Given the description of an element on the screen output the (x, y) to click on. 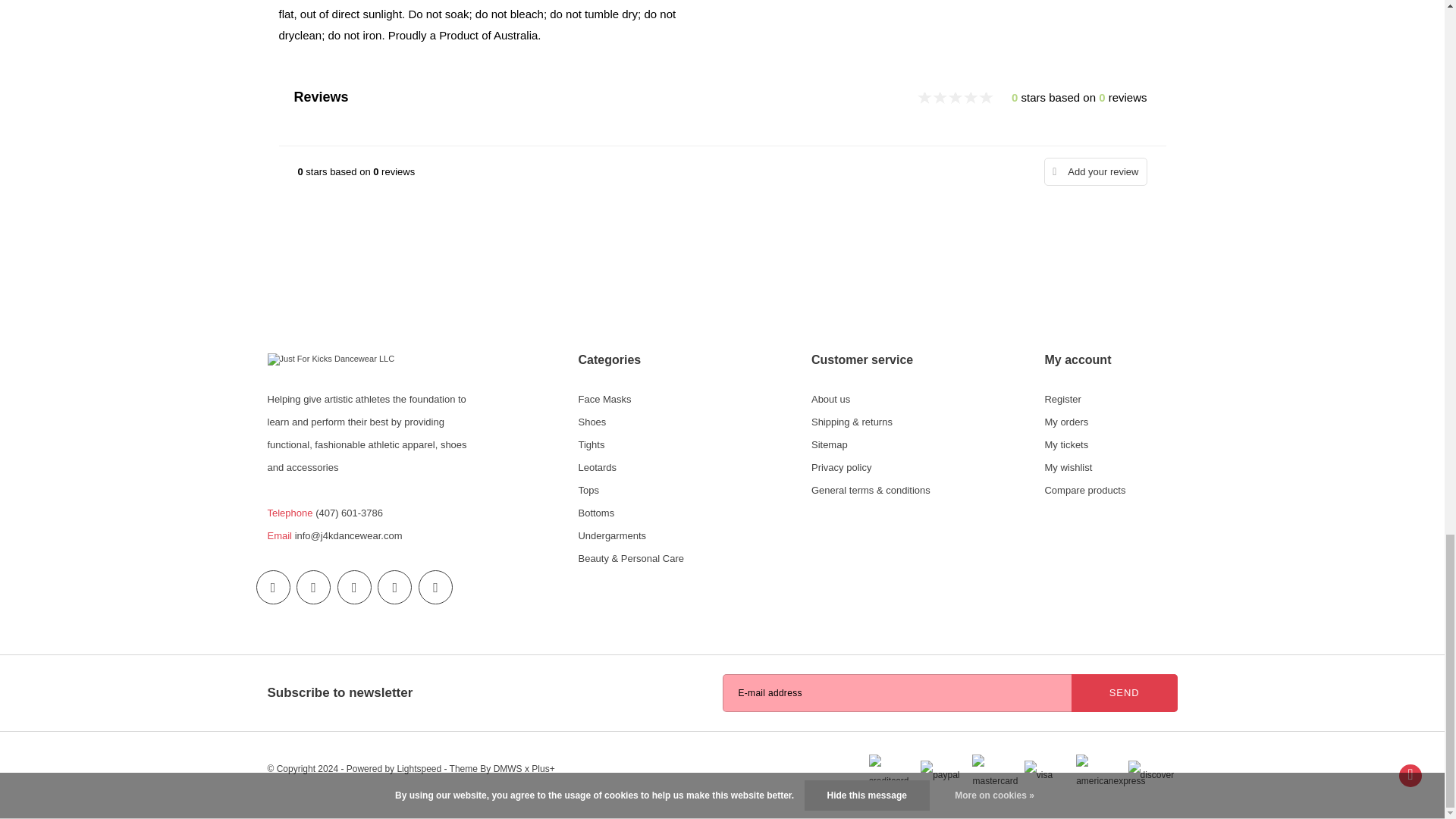
My orders (1065, 421)
Subscribe (1124, 692)
Instagram Just For Kicks Dancewear LLC (354, 587)
My tickets (1065, 444)
Register (1061, 398)
Lightspeed (418, 768)
My wishlist (1067, 467)
